Given the description of an element on the screen output the (x, y) to click on. 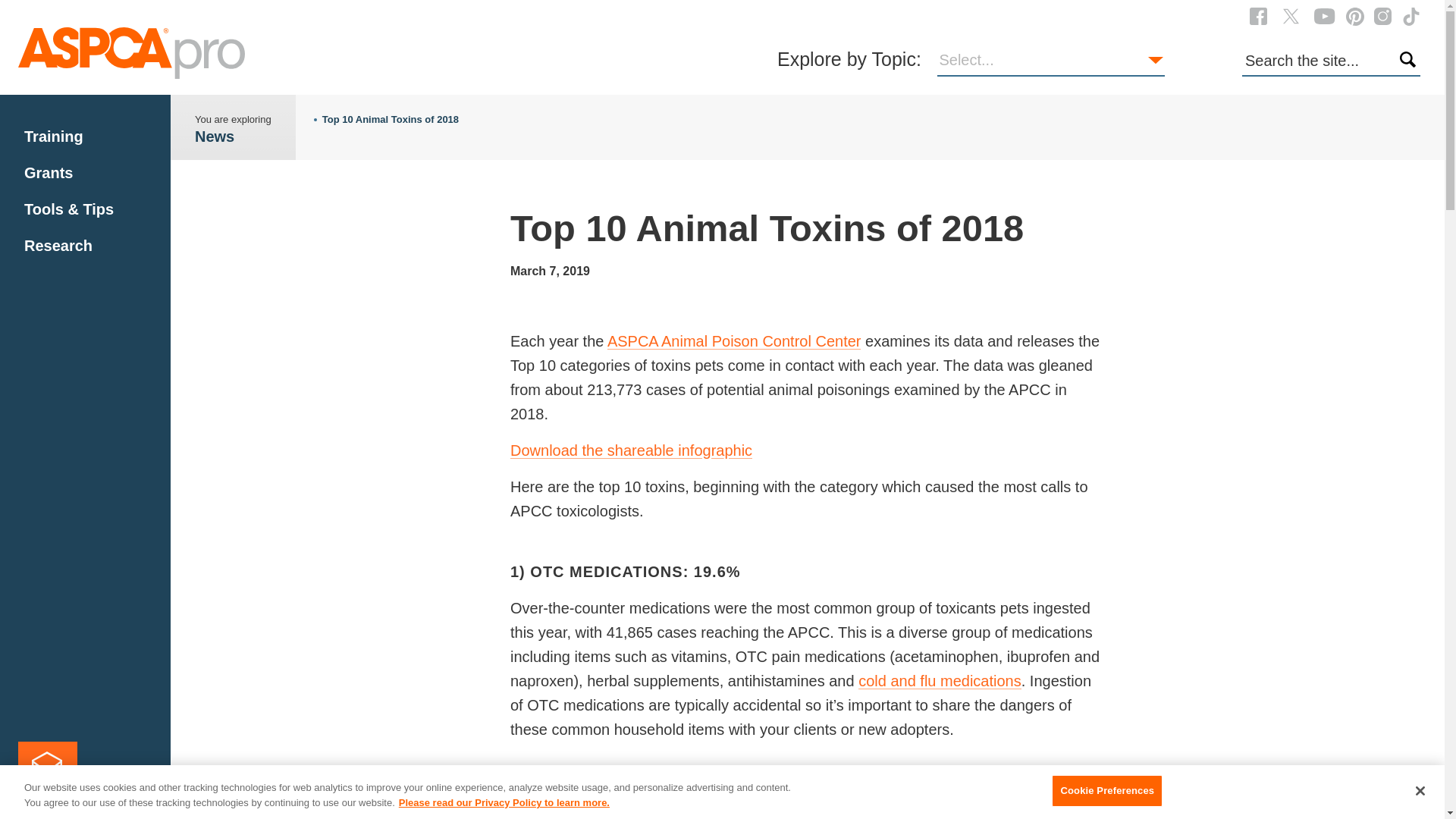
Research (58, 245)
Instagram (1382, 14)
Facebook (1257, 16)
Facebook (1257, 14)
YouTube (1324, 14)
Twitter (1291, 16)
YouTube (1324, 16)
Training (53, 135)
Instagram (1382, 16)
Select... (1050, 60)
Grants (48, 172)
Pinterest (1354, 14)
Twitter (1291, 14)
Pinterest (1354, 16)
